Given the description of an element on the screen output the (x, y) to click on. 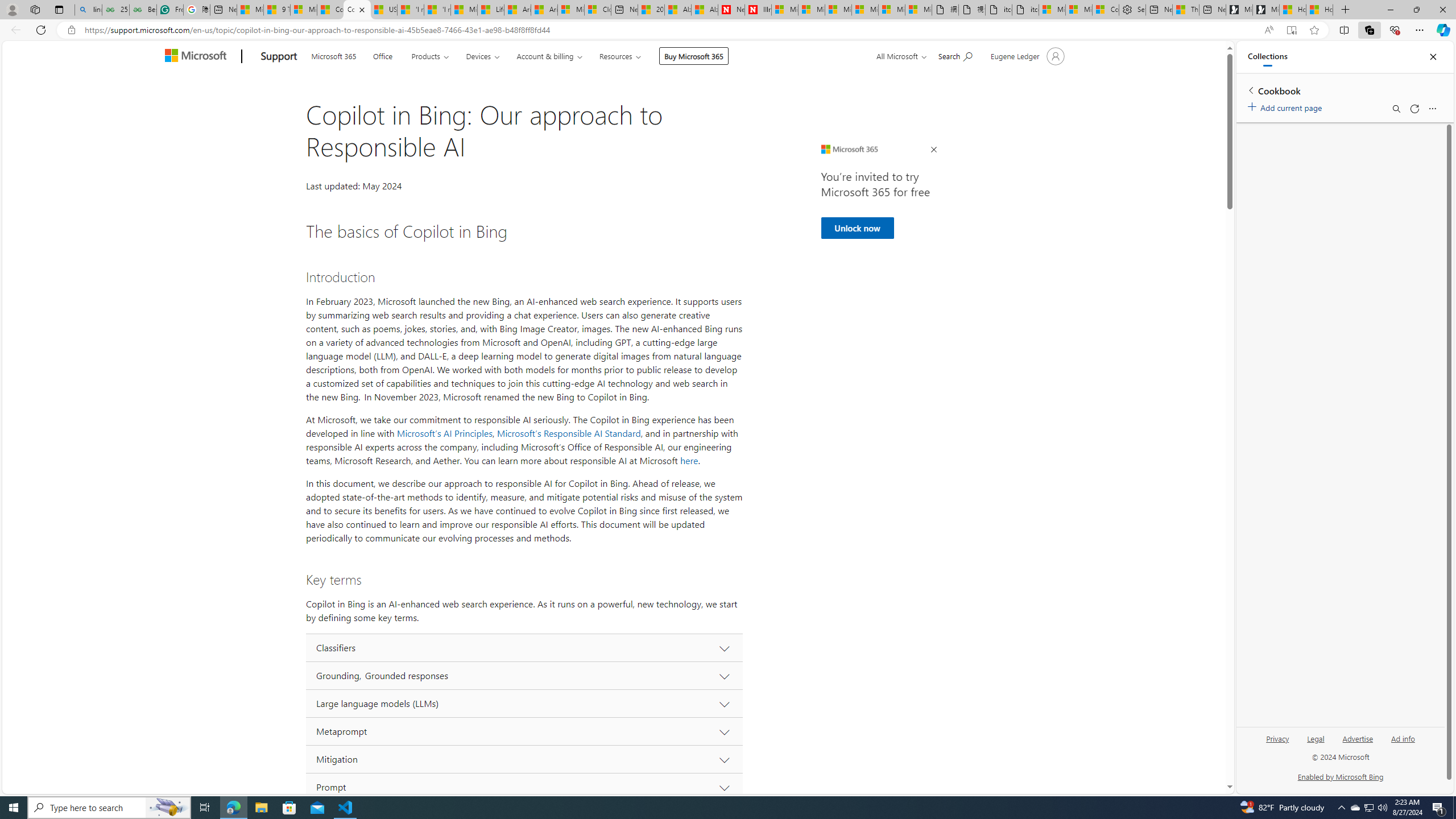
Back to list of collections (1250, 90)
